Given the description of an element on the screen output the (x, y) to click on. 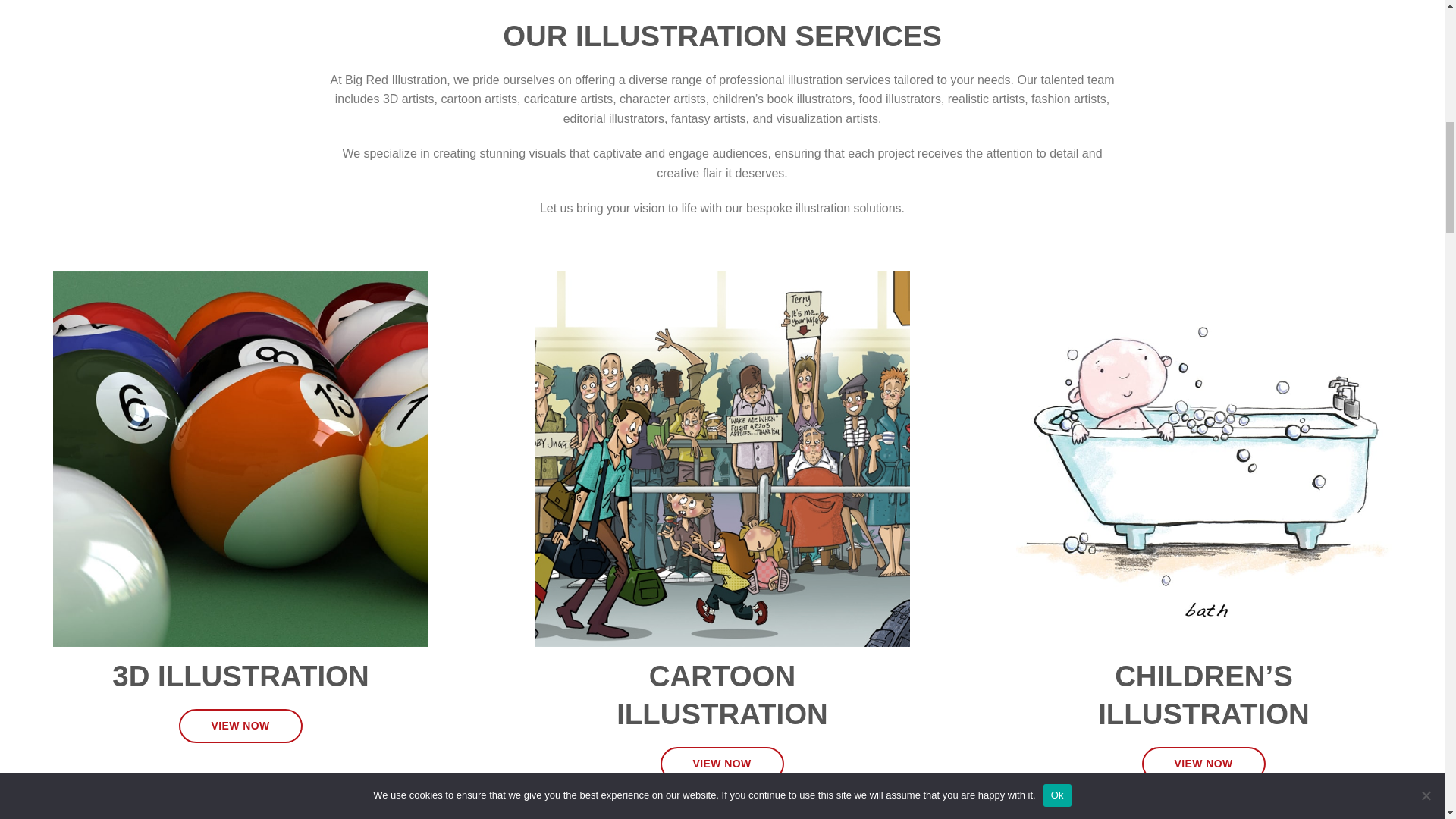
VIEW NOW (240, 725)
VIEW NOW (722, 763)
VIEW NOW (1203, 763)
